Given the description of an element on the screen output the (x, y) to click on. 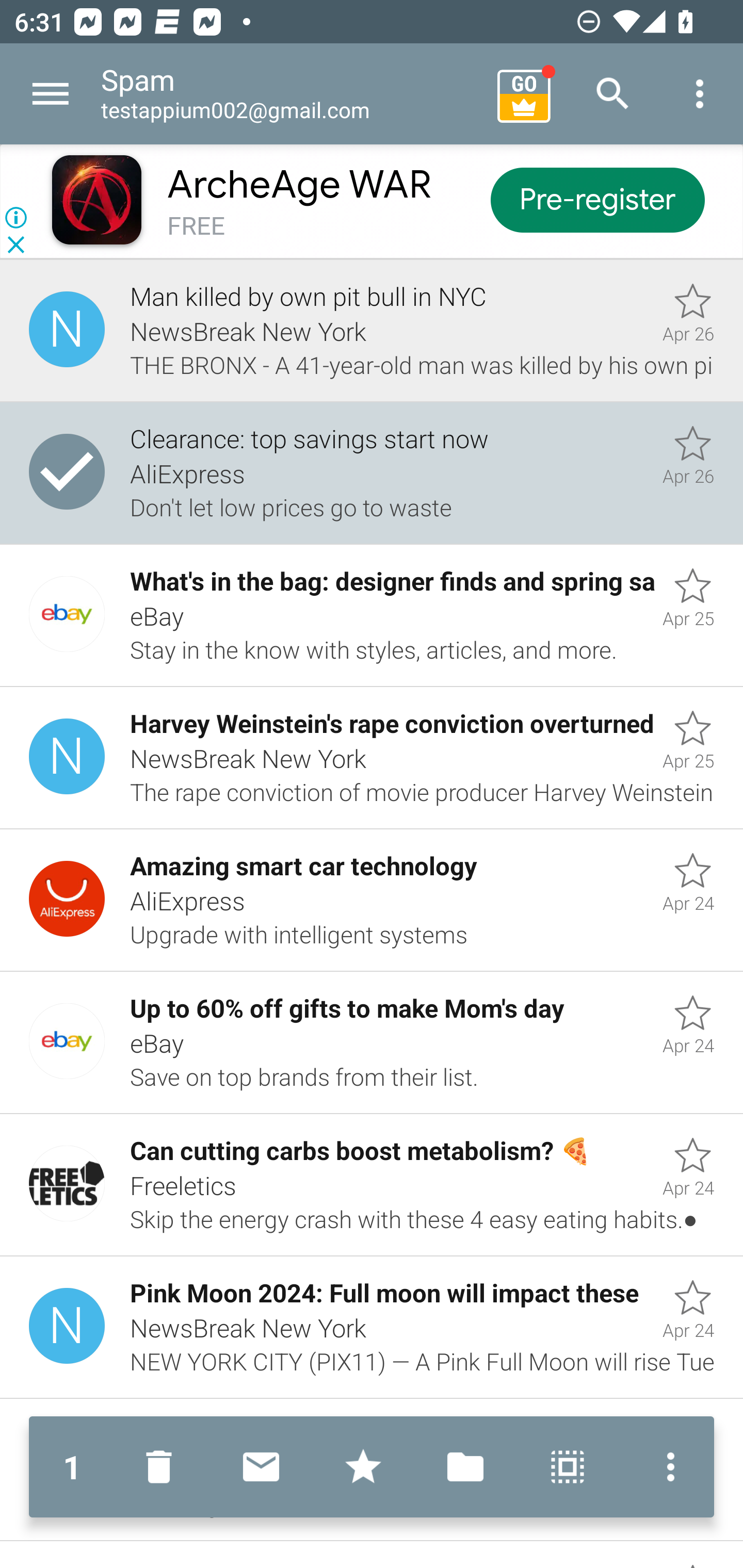
Navigate up (50, 93)
Spam testappium002@gmail.com (291, 93)
Search (612, 93)
More options (699, 93)
ArcheAge WAR (298, 184)
Pre-register (597, 199)
FREE (195, 225)
1 1 message (71, 1466)
Move to Deleted (162, 1466)
Mark unread (261, 1466)
Mark with stars (363, 1466)
Move to folder… (465, 1466)
Select all (567, 1466)
More options (666, 1466)
